Given the description of an element on the screen output the (x, y) to click on. 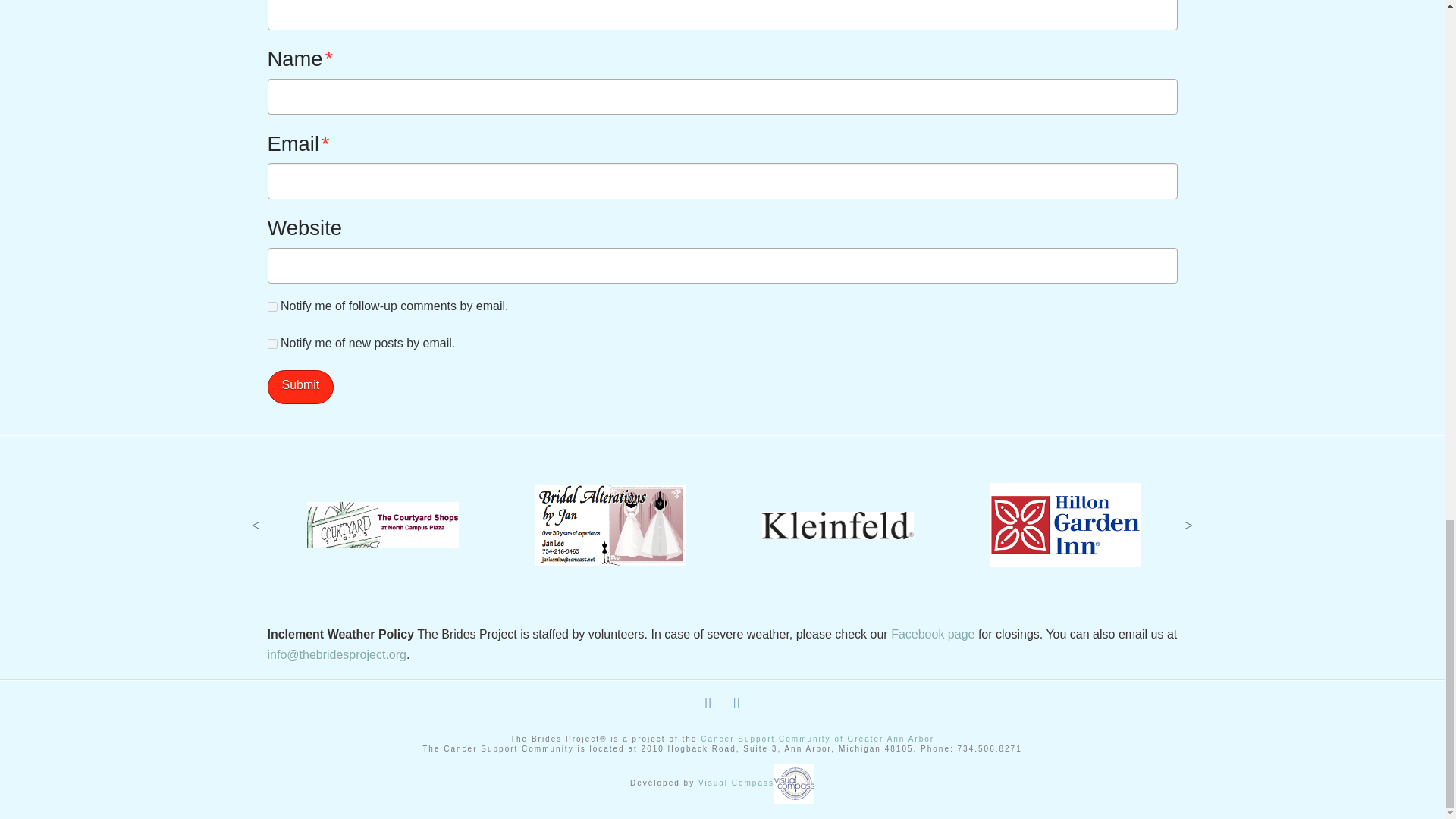
subscribe (271, 343)
Facebook (707, 703)
Submit (299, 387)
subscribe (271, 307)
Instagram (736, 703)
Submit (299, 387)
